Given the description of an element on the screen output the (x, y) to click on. 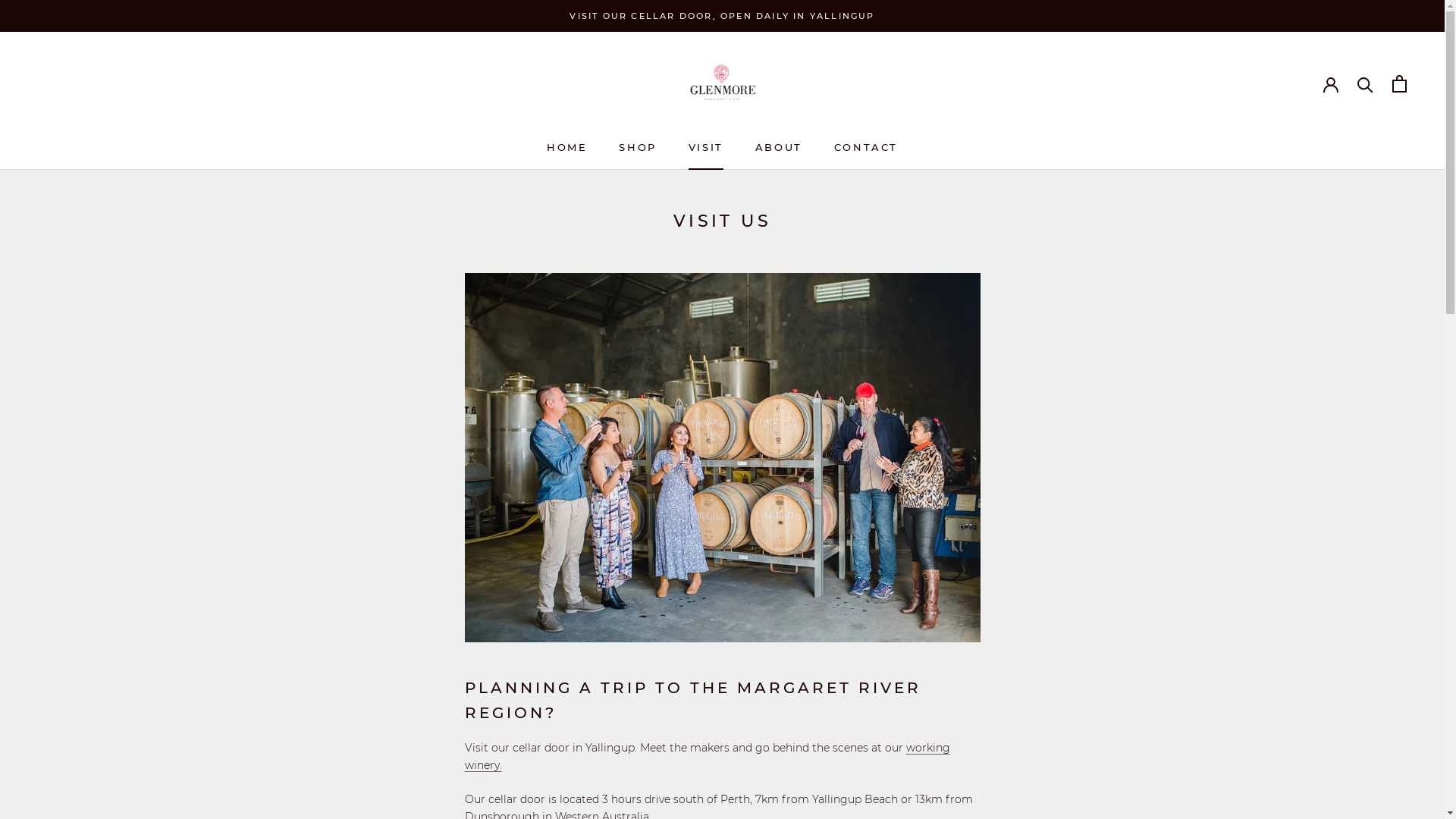
working winery. Element type: text (706, 755)
VISIT
VISIT Element type: text (705, 147)
ABOUT Element type: text (778, 147)
SHOP
SHOP Element type: text (636, 147)
HOME
HOME Element type: text (566, 147)
VISIT OUR CELLAR DOOR, OPEN DAILY IN YALLINGUP Element type: text (721, 15)
CONTACT Element type: text (865, 147)
